Given the description of an element on the screen output the (x, y) to click on. 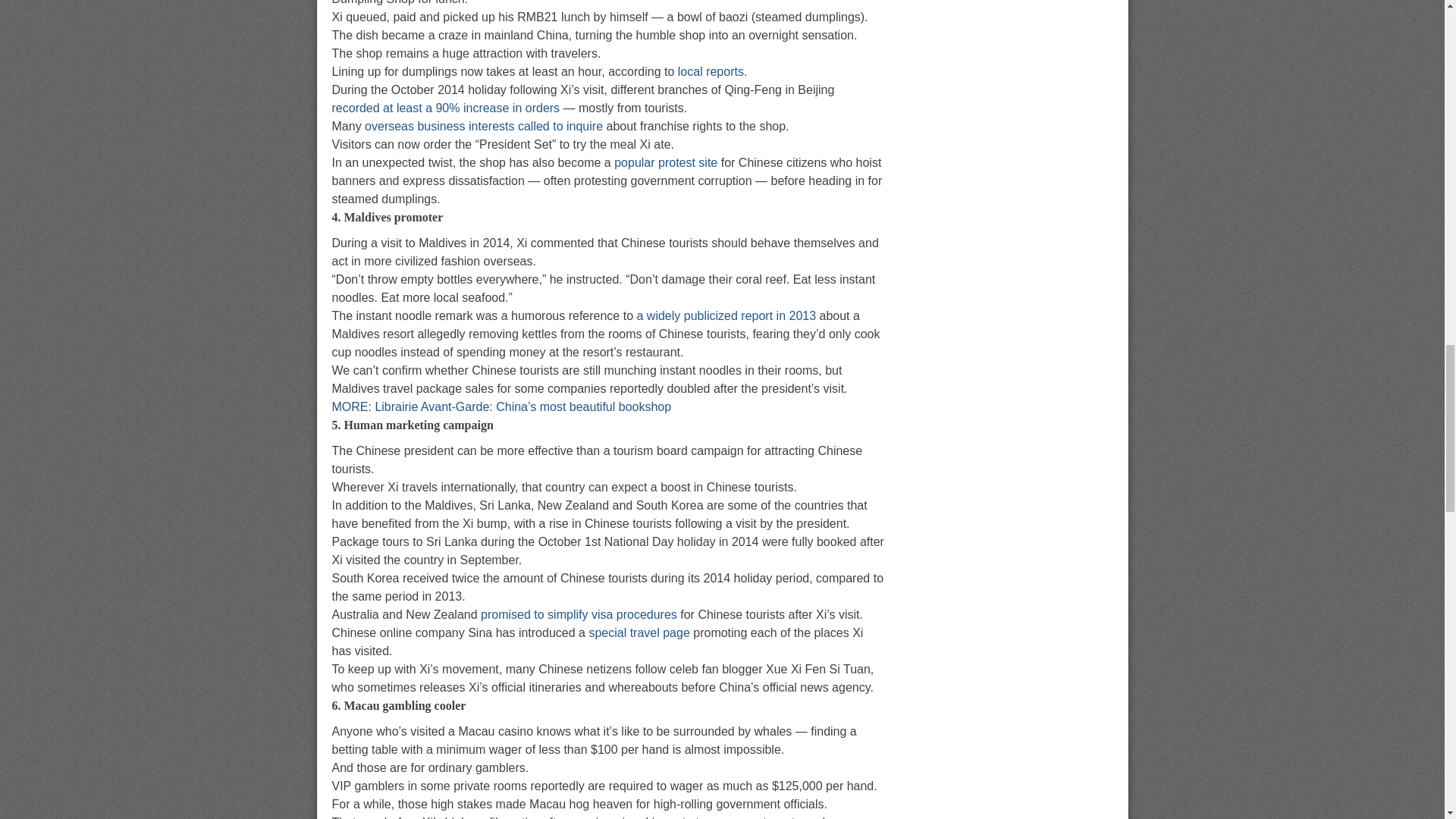
overseas business interests called to inquire (483, 125)
promised to simplify visa procedures (578, 614)
local reports (709, 71)
popular protest site (665, 162)
a widely publicized report in 2013 (725, 315)
special travel page (638, 632)
